Given the description of an element on the screen output the (x, y) to click on. 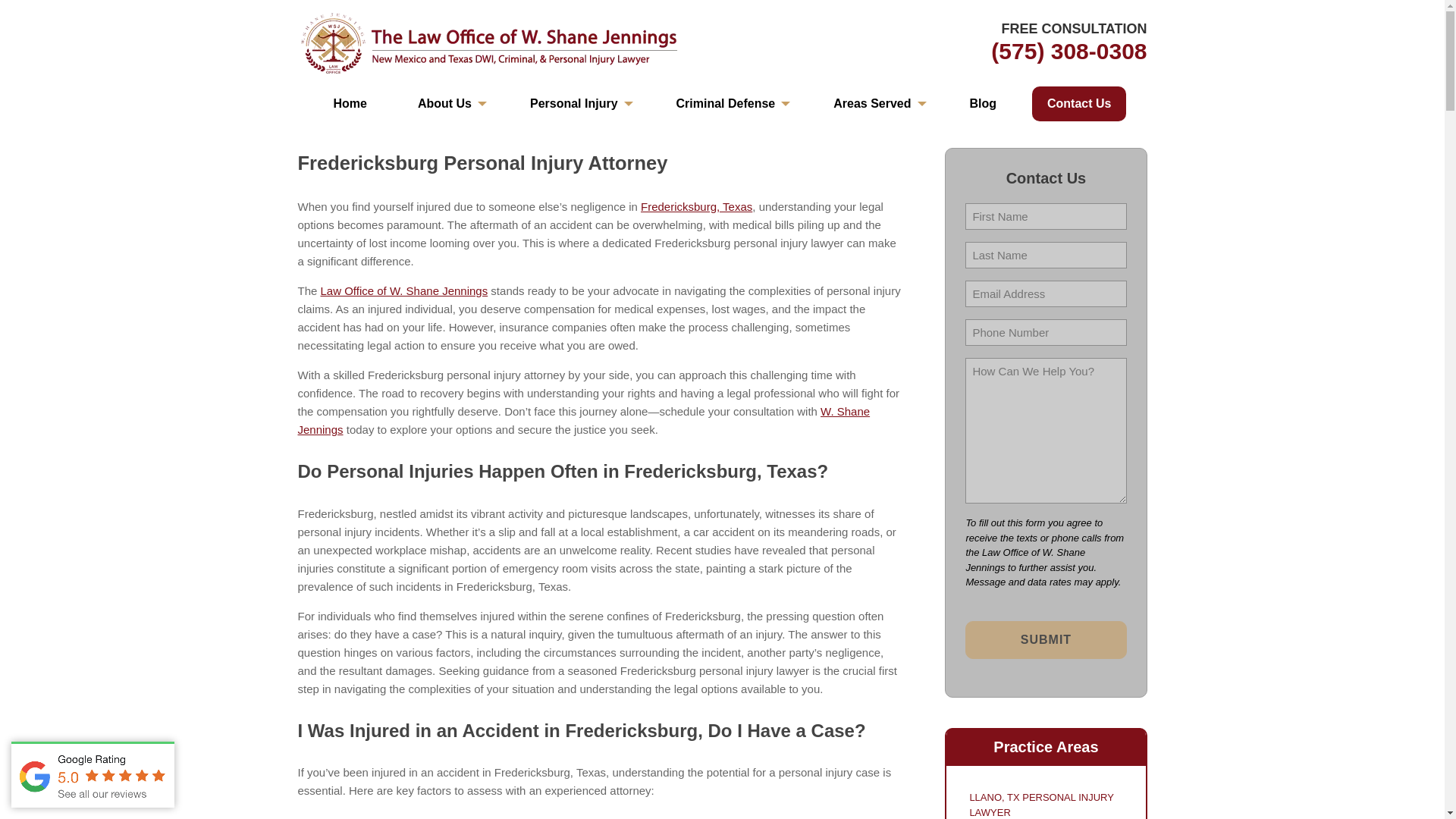
Home (349, 103)
About Us (449, 103)
Submit (1045, 639)
Personal Injury (577, 103)
Criminal Defense (729, 103)
Areas Served (875, 103)
